Given the description of an element on the screen output the (x, y) to click on. 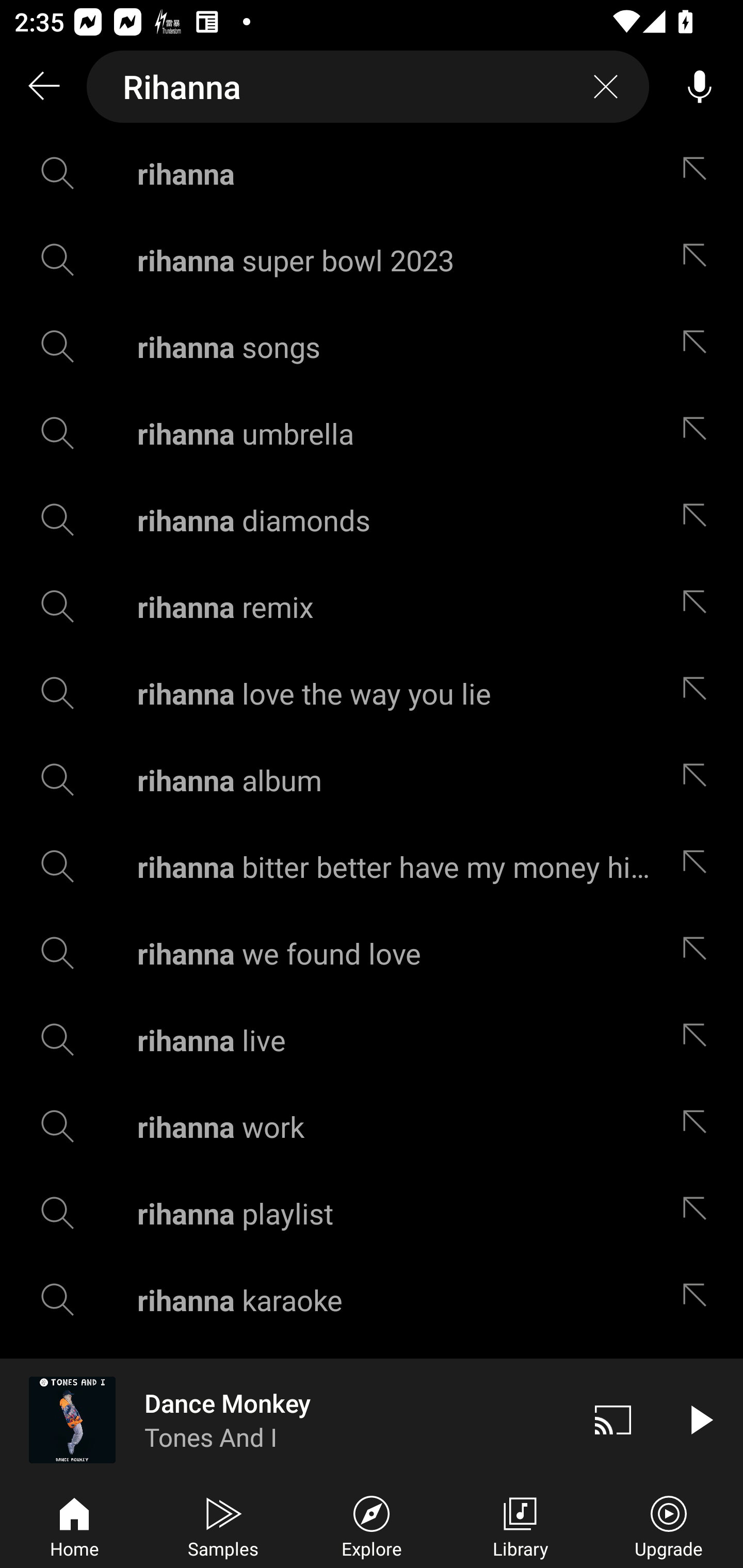
Search back (43, 86)
Rihanna (367, 86)
Clear search (605, 86)
Voice search (699, 86)
rihanna Edit suggestion rihanna (371, 173)
Edit suggestion rihanna (699, 173)
Edit suggestion rihanna super bowl 2023 (699, 259)
rihanna songs Edit suggestion rihanna songs (371, 346)
Edit suggestion rihanna songs (699, 346)
rihanna umbrella Edit suggestion rihanna umbrella (371, 433)
Edit suggestion rihanna umbrella (699, 433)
rihanna diamonds Edit suggestion rihanna diamonds (371, 519)
Edit suggestion rihanna diamonds (699, 519)
rihanna remix Edit suggestion rihanna remix (371, 605)
Edit suggestion rihanna remix (699, 605)
Edit suggestion rihanna love the way you lie (699, 692)
rihanna album Edit suggestion rihanna album (371, 779)
Edit suggestion rihanna album (699, 779)
Edit suggestion rihanna we found love (699, 953)
rihanna live Edit suggestion rihanna live (371, 1040)
Edit suggestion rihanna live (699, 1040)
rihanna work Edit suggestion rihanna work (371, 1126)
Edit suggestion rihanna work (699, 1126)
rihanna playlist Edit suggestion rihanna playlist (371, 1212)
Edit suggestion rihanna playlist (699, 1212)
rihanna karaoke Edit suggestion rihanna karaoke (371, 1299)
Edit suggestion rihanna karaoke (699, 1299)
Dance Monkey Tones And I (284, 1419)
Cast. Disconnected (612, 1419)
Play video (699, 1419)
Home (74, 1524)
Samples (222, 1524)
Explore (371, 1524)
Library (519, 1524)
Upgrade (668, 1524)
